Given the description of an element on the screen output the (x, y) to click on. 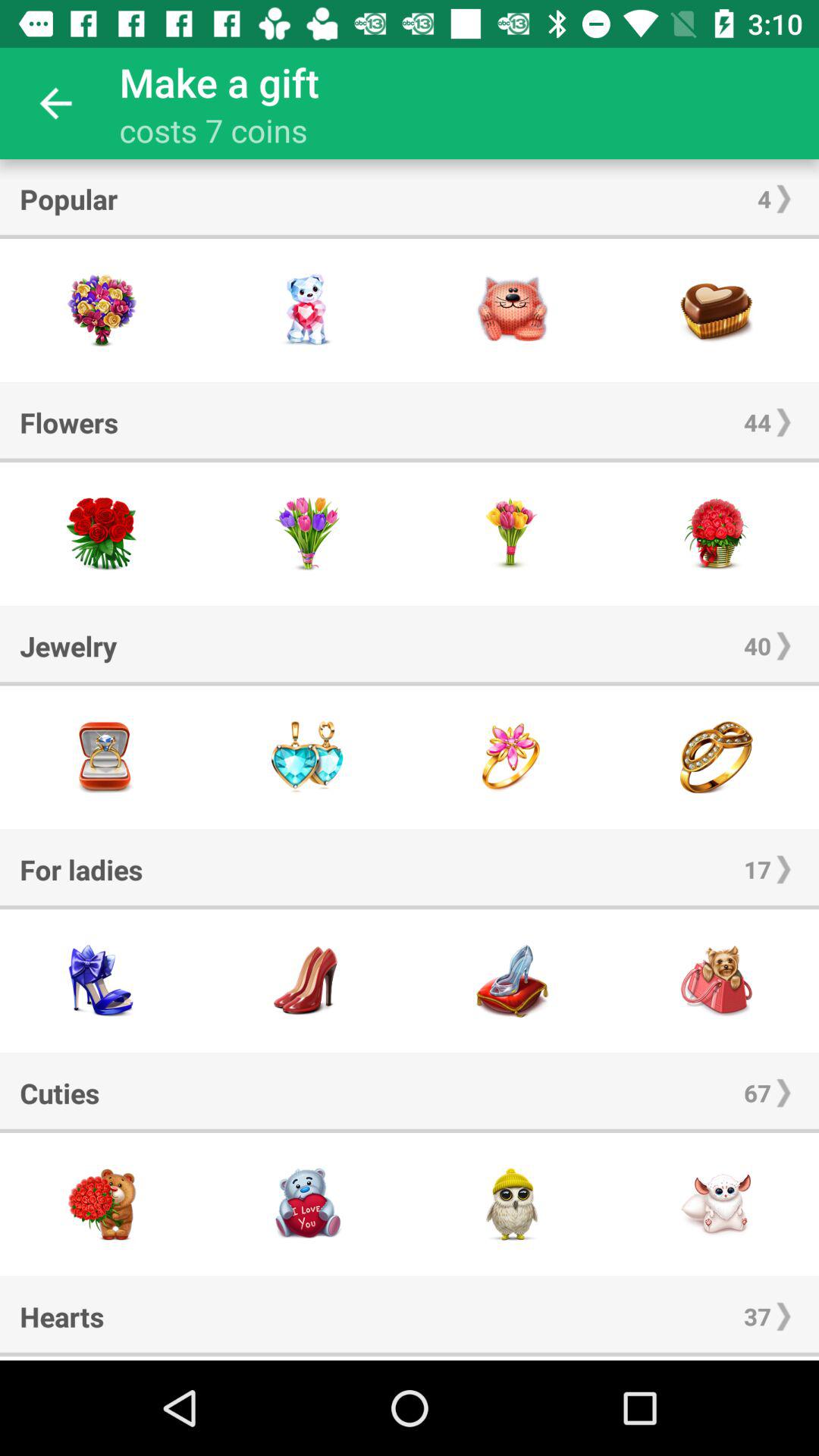
choose the hearts icon (61, 1316)
